Given the description of an element on the screen output the (x, y) to click on. 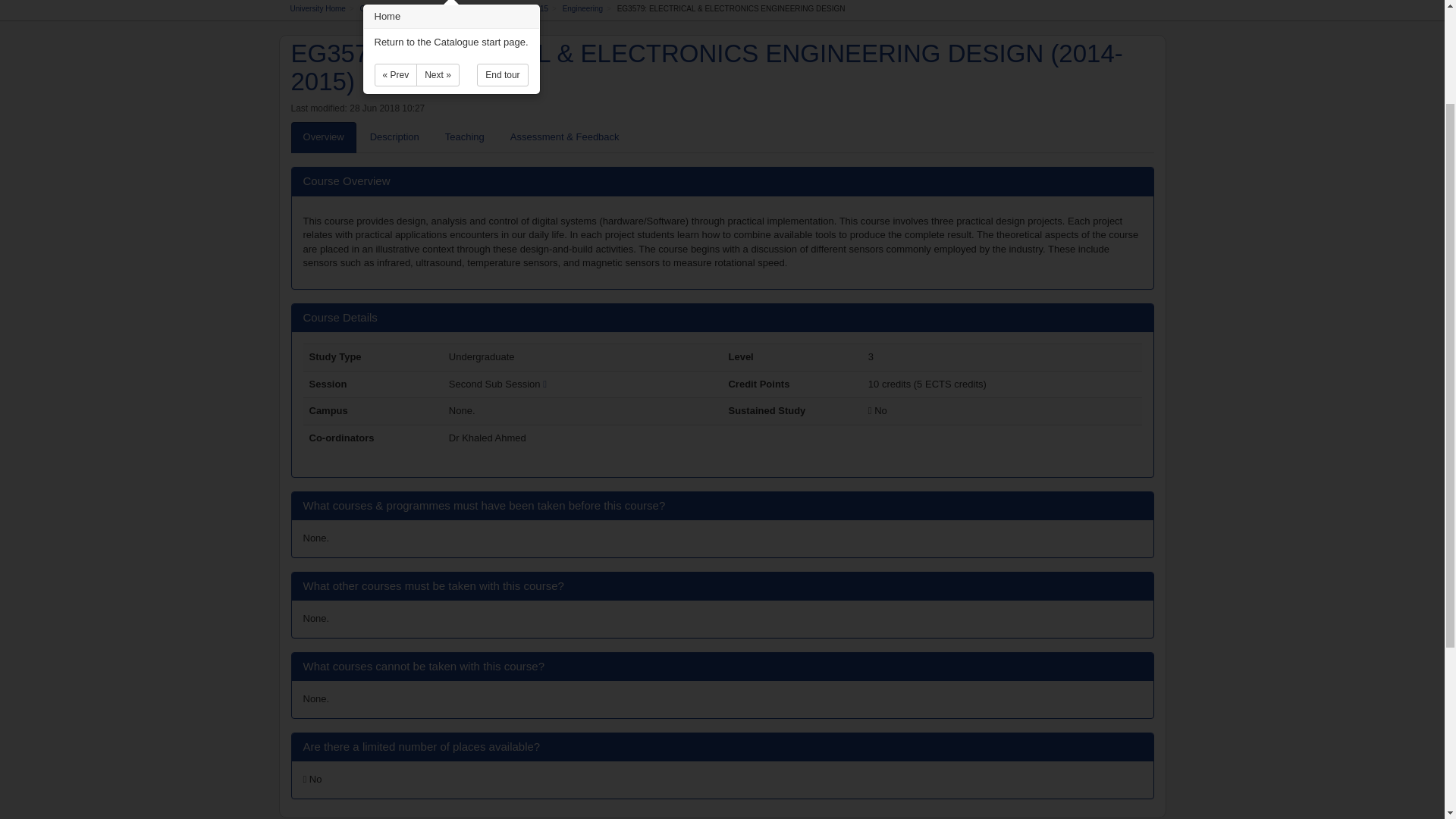
Description (394, 137)
Catalogue of Courses (395, 8)
Undergraduate (471, 8)
Engineering (582, 8)
University Home (317, 8)
2014-2015 (530, 8)
Teaching (464, 137)
End tour (502, 74)
Overview (323, 137)
